Given the description of an element on the screen output the (x, y) to click on. 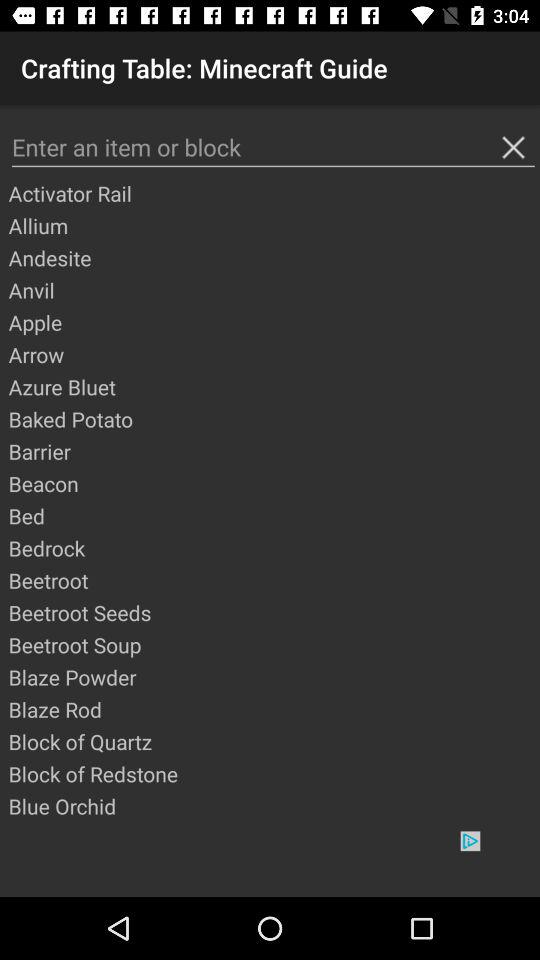
select icon above the activator rail (273, 147)
